Given the description of an element on the screen output the (x, y) to click on. 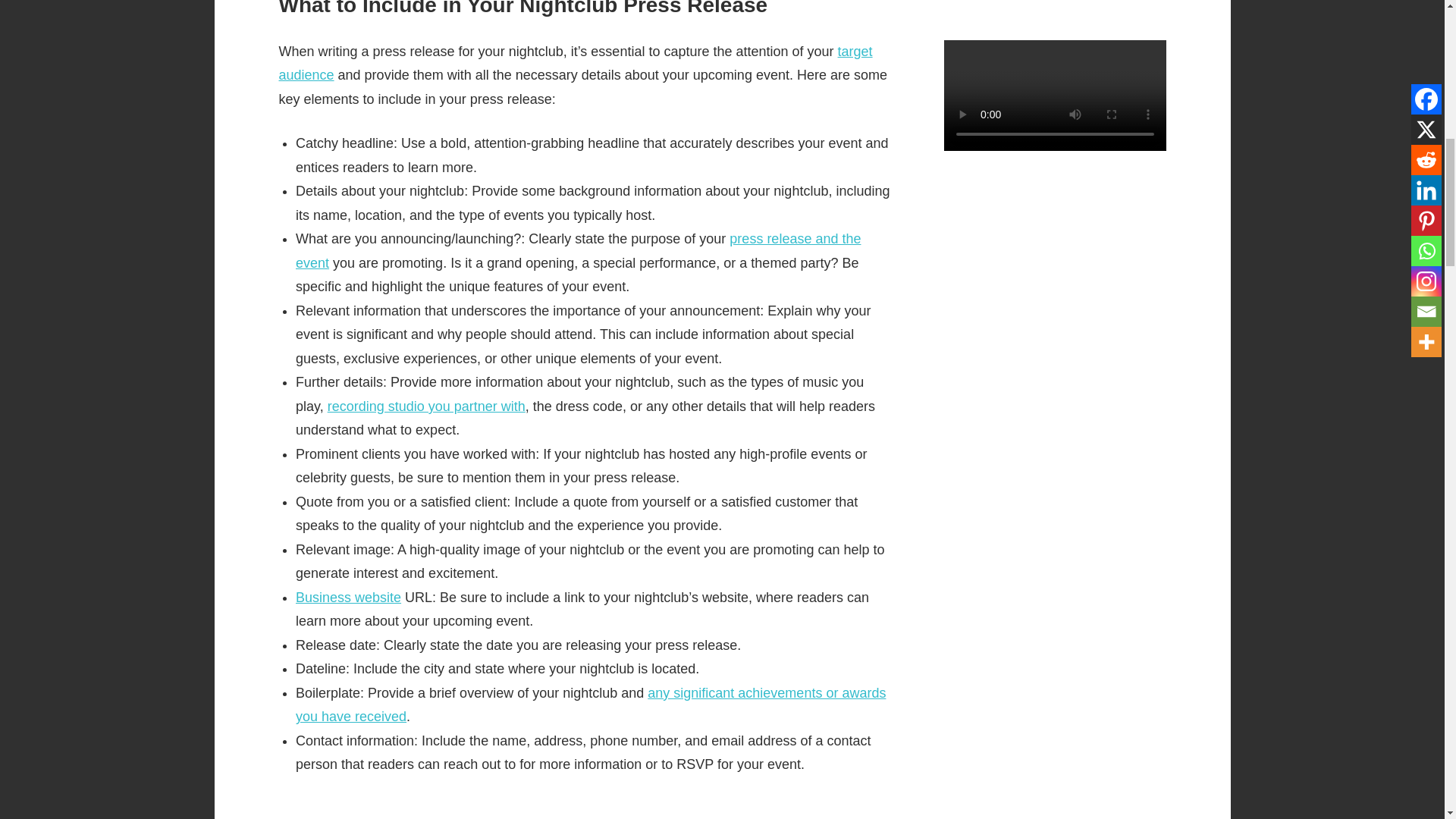
any significant achievements or awards you have received (590, 704)
recording studio you partner with (426, 406)
press release and the event (577, 250)
Business website (348, 597)
target audience (575, 63)
